Given the description of an element on the screen output the (x, y) to click on. 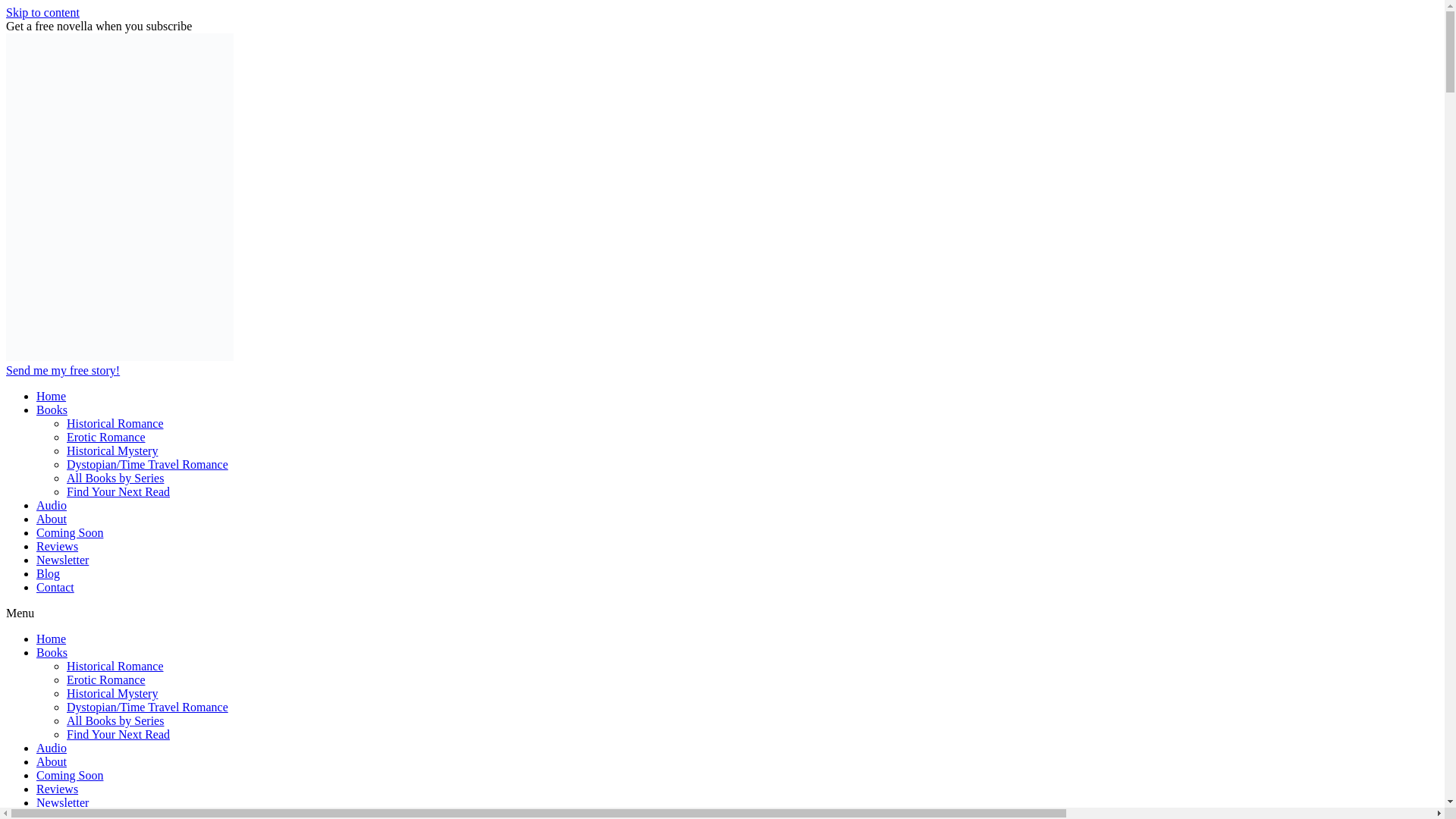
Send me my free story! (62, 369)
Historical Mystery (111, 450)
Historical Romance (114, 422)
Coming Soon (69, 775)
Find Your Next Read (118, 734)
Erotic Romance (105, 436)
All Books by Series (114, 477)
Newsletter (62, 559)
Contact (55, 586)
Audio (51, 504)
Home (50, 638)
Historical Mystery (111, 693)
Coming Soon (69, 532)
All Books by Series (114, 720)
About (51, 518)
